Given the description of an element on the screen output the (x, y) to click on. 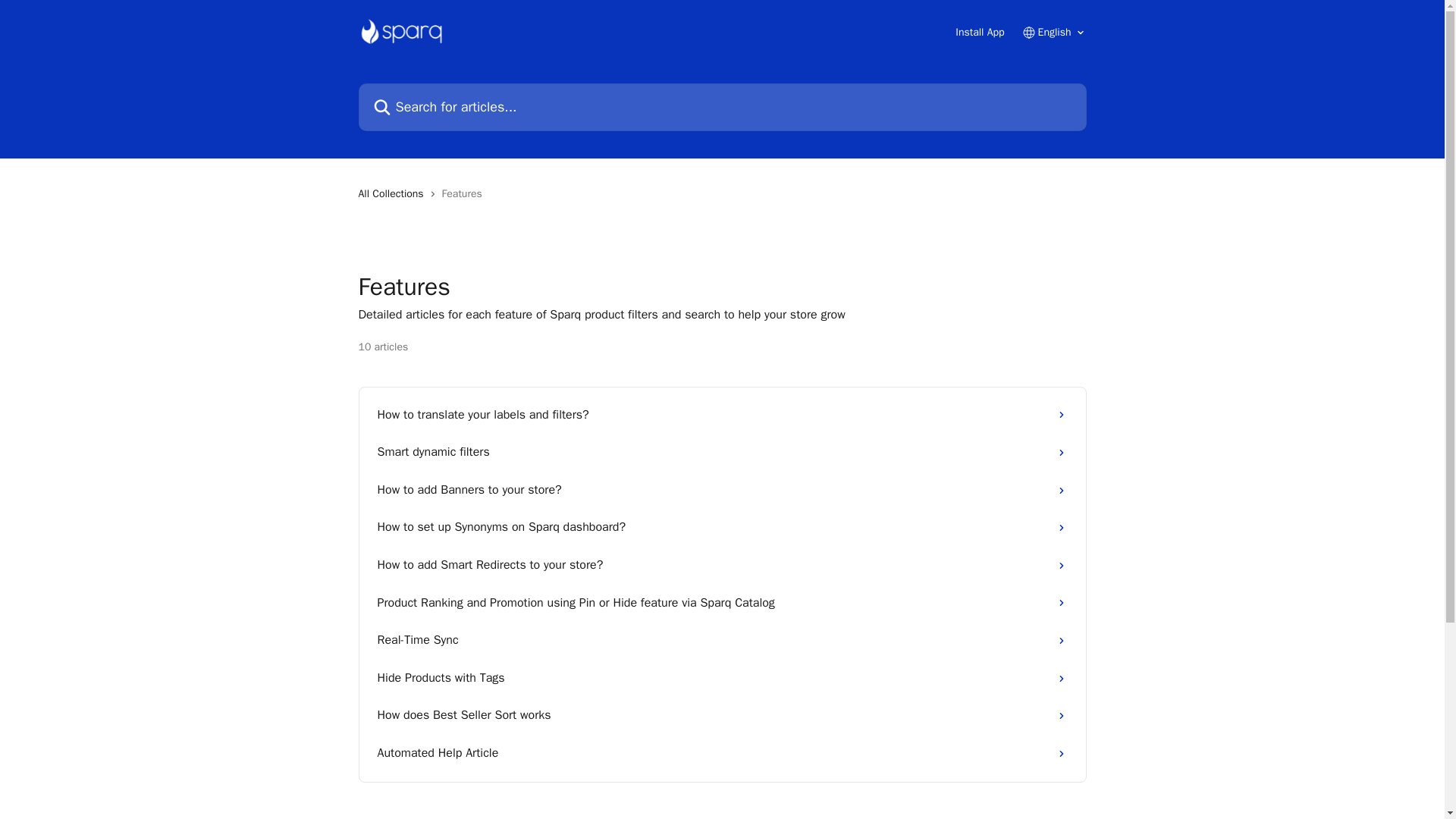
Smart dynamic filters (722, 452)
How to set up Synonyms on Sparq dashboard? (722, 527)
How does Best Seller Sort works (722, 715)
How to translate your labels and filters? (722, 415)
How to add Smart Redirects to your store? (722, 565)
Real-Time Sync (722, 640)
Install App (979, 32)
Automated Help Article (722, 753)
Hide Products with Tags (722, 678)
How to add Banners to your store? (722, 490)
All Collections (393, 193)
